Given the description of an element on the screen output the (x, y) to click on. 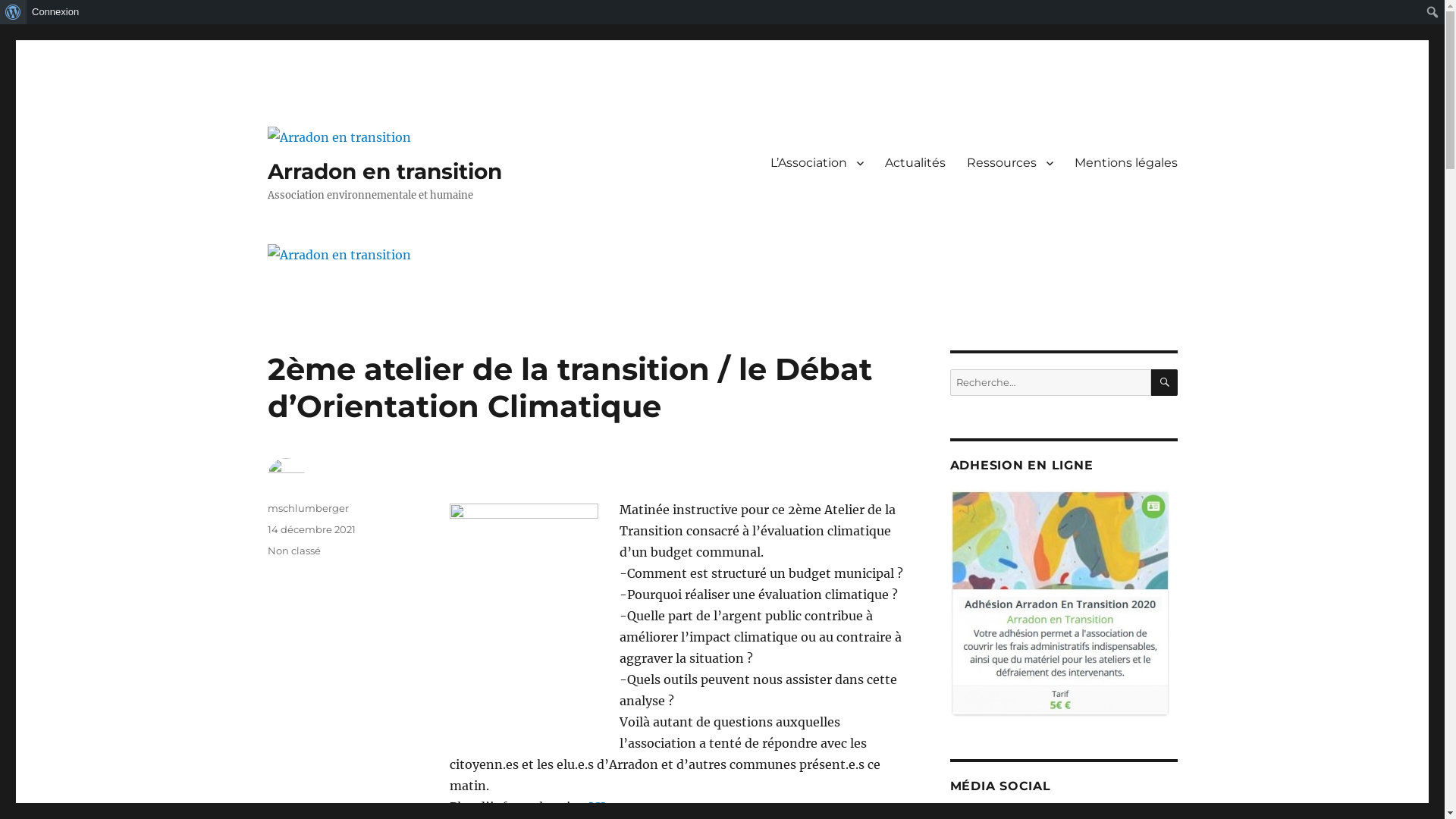
Connexion Element type: text (55, 12)
Arradon en transition Element type: text (383, 171)
Ressources Element type: text (1009, 162)
Rechercher Element type: text (11, 12)
RECHERCHE Element type: text (1164, 382)
mschlumberger Element type: text (307, 508)
ICI Element type: text (596, 806)
